Given the description of an element on the screen output the (x, y) to click on. 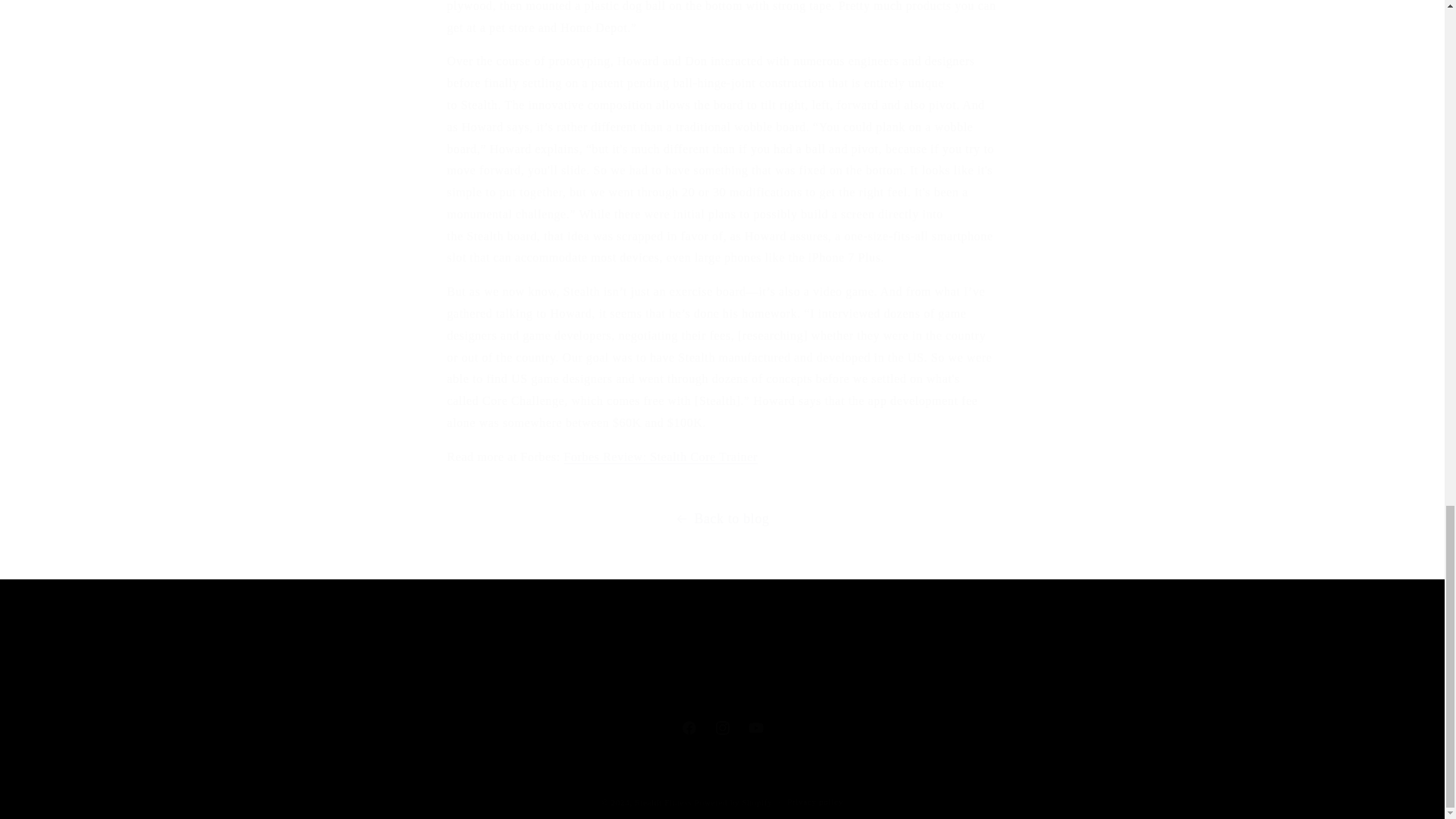
Forbes Review - Stealth Core Trainer (721, 727)
Facebook (660, 456)
Forbes Review: Stealth Core Trainer (687, 727)
DO NOT SELL OR SHARE MY PERSONAL INFORMATION (660, 456)
ABOUT US (819, 651)
TERMS AND CONDITIONS (514, 653)
